Given the description of an element on the screen output the (x, y) to click on. 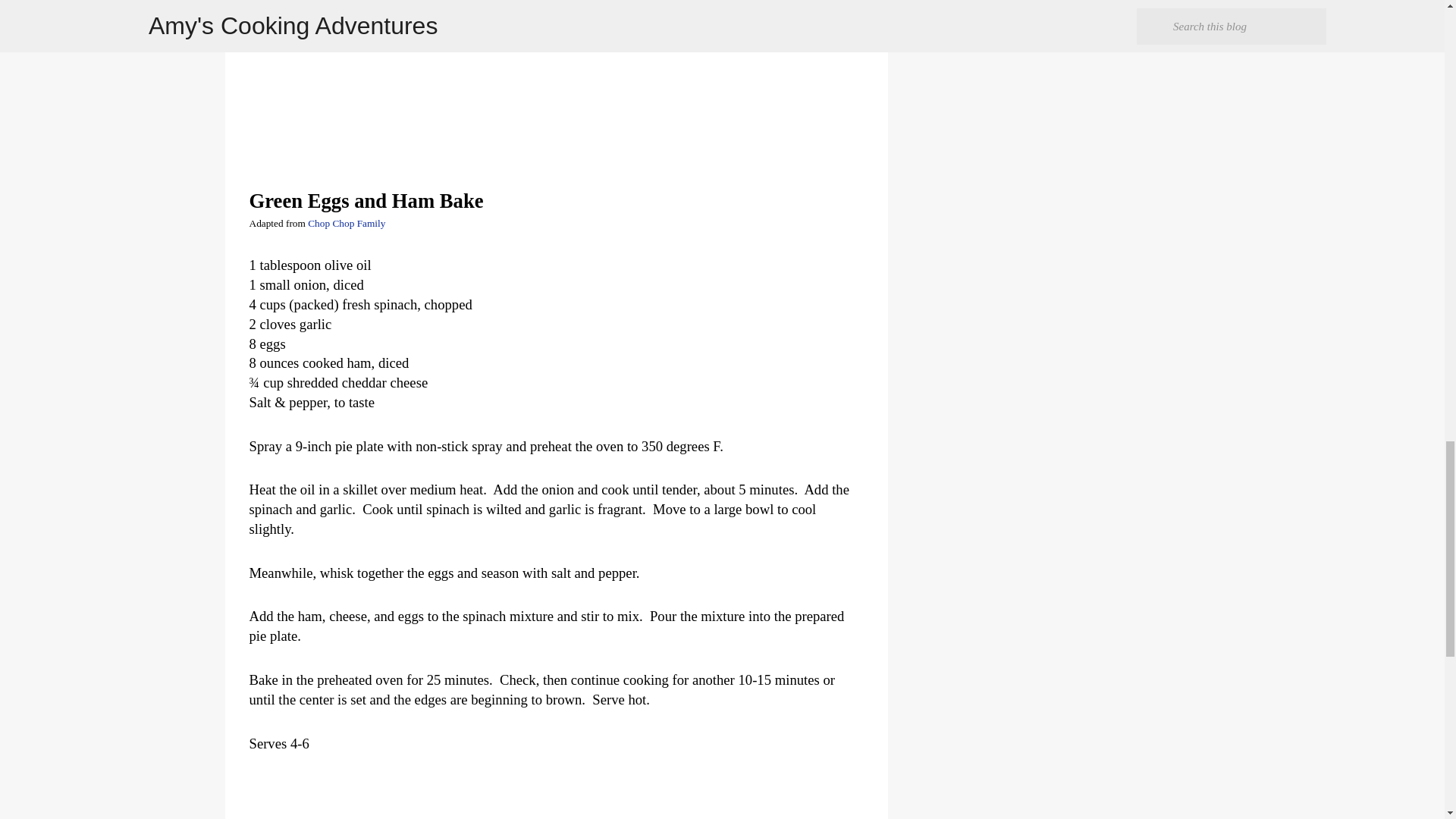
Chop Chop Family (346, 223)
